Given the description of an element on the screen output the (x, y) to click on. 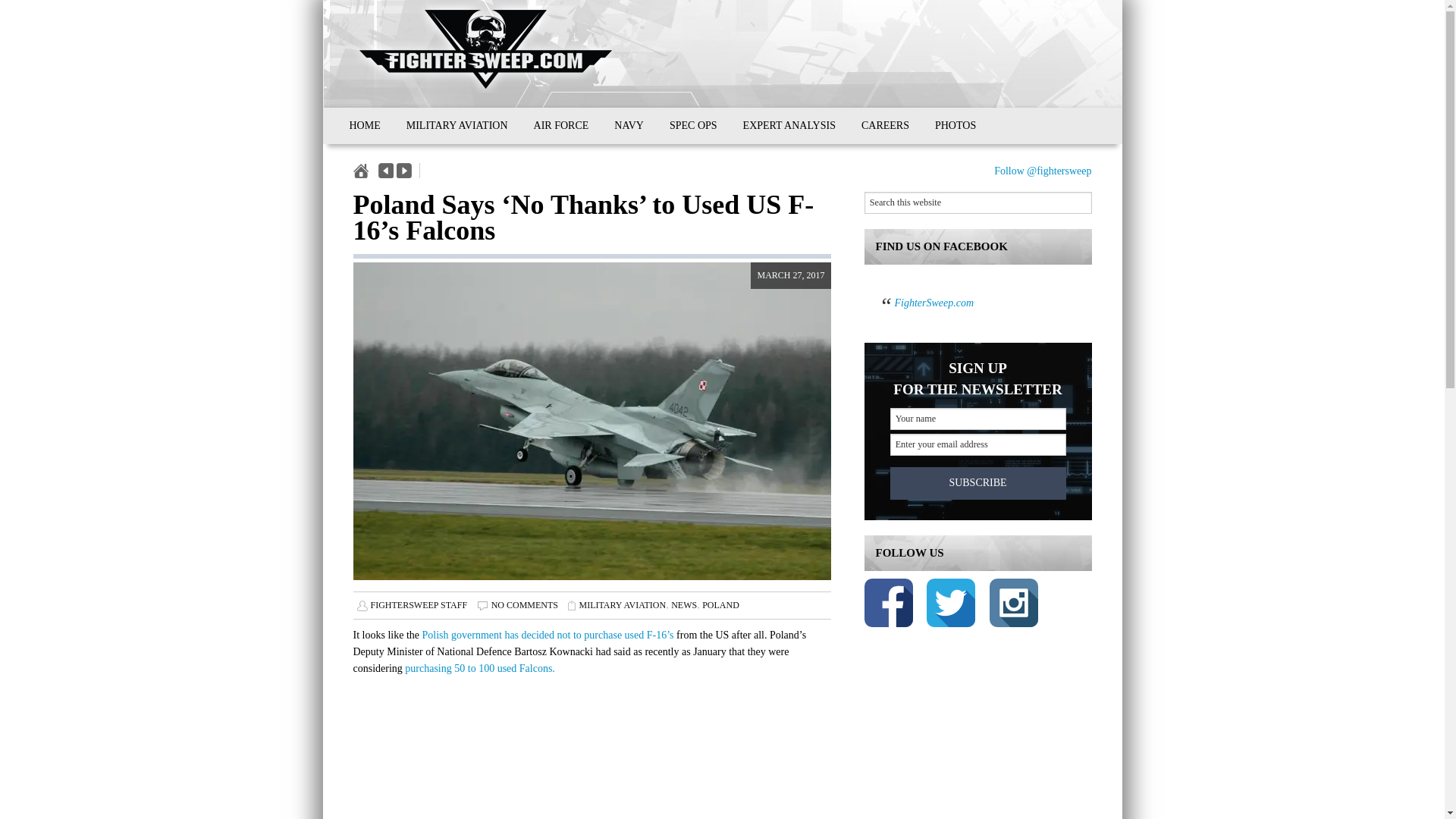
SUBSCRIBE (977, 482)
purchasing 50 to 100 used Falcons. (479, 668)
MILITARY AVIATION (621, 604)
SPEC OPS (693, 125)
PHOTOS (955, 125)
NEWS (684, 604)
Posts by FighterSweep Staff (418, 604)
NO COMMENTS (524, 604)
HOME (364, 125)
